Given the description of an element on the screen output the (x, y) to click on. 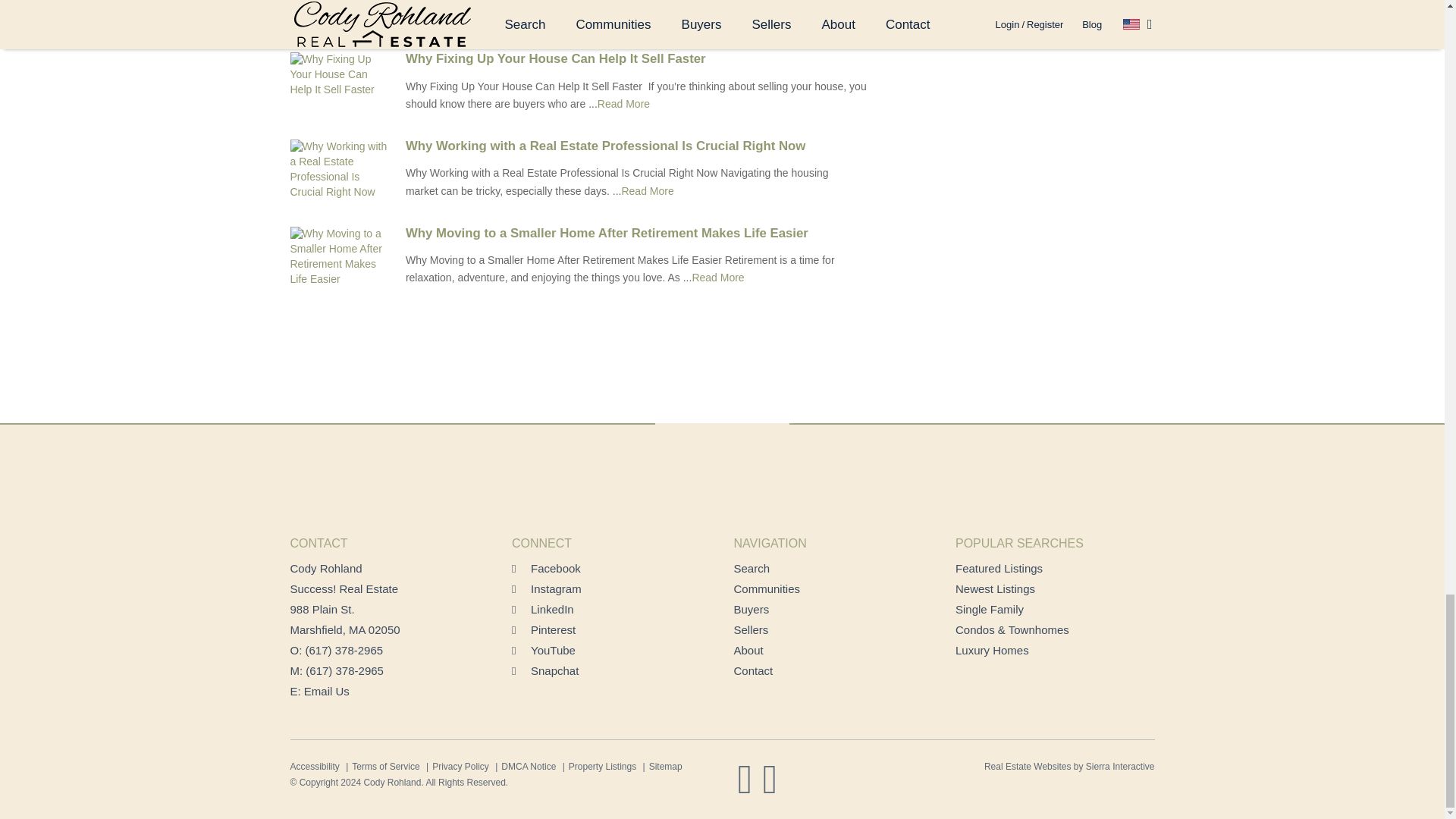
Why Fixing Up Your House Can Help It Sell Faster (643, 59)
